Given the description of an element on the screen output the (x, y) to click on. 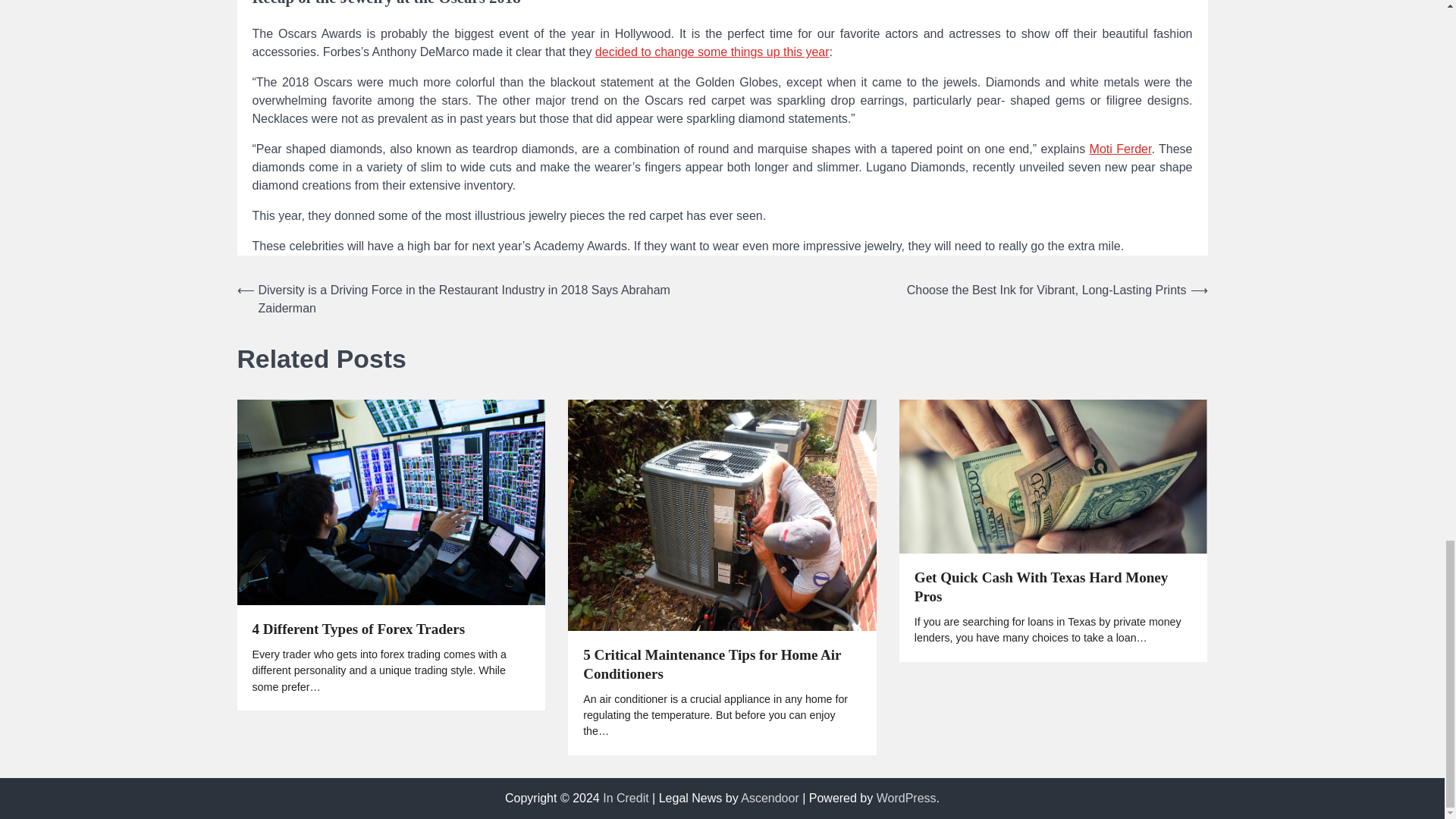
WordPress (906, 797)
In Credit (624, 797)
Get Quick Cash With Texas Hard Money Pros (1053, 587)
Ascendoor (770, 797)
Moti Ferder (1120, 148)
decided to change some things up this year (712, 51)
4 Different Types of Forex Traders (357, 629)
5 Critical Maintenance Tips for Home Air Conditioners   (722, 664)
